Given the description of an element on the screen output the (x, y) to click on. 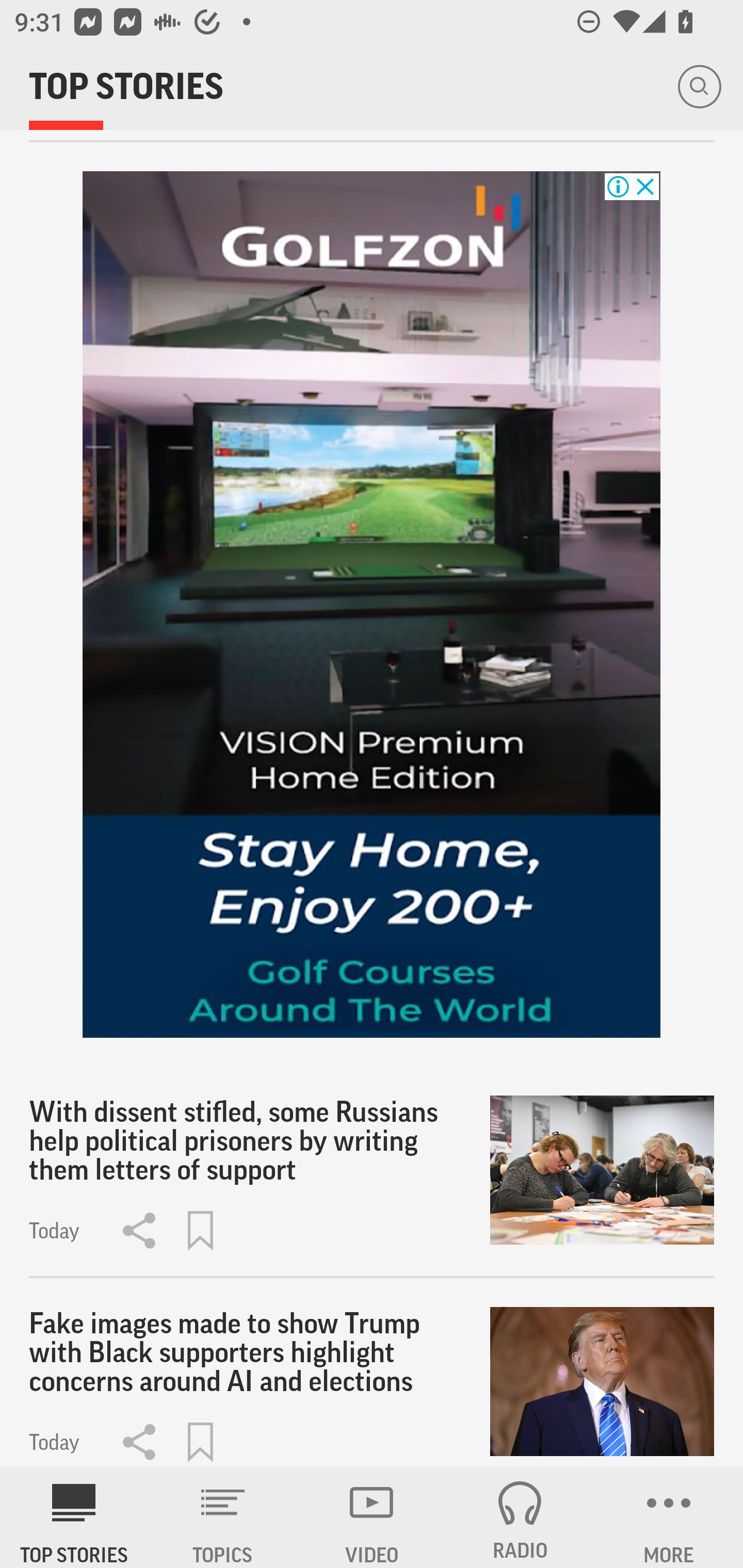
golfzonhk (371, 604)
AP News TOP STORIES (74, 1517)
TOPICS (222, 1517)
VIDEO (371, 1517)
RADIO (519, 1517)
MORE (668, 1517)
